Given the description of an element on the screen output the (x, y) to click on. 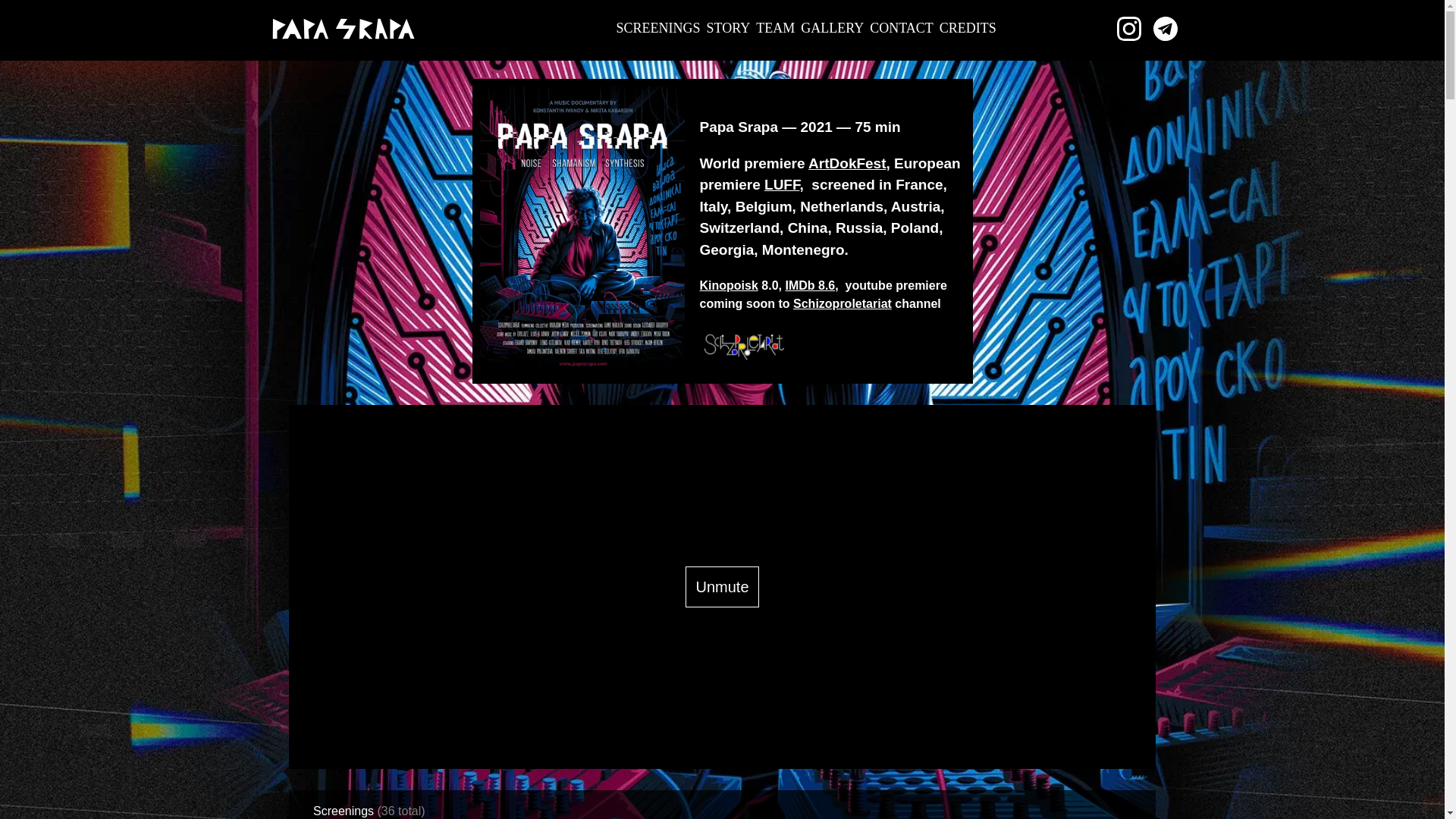
GALLERY (831, 28)
STORY (728, 28)
TEAM (774, 28)
IMDb 8.6 (809, 285)
SCREENINGS (657, 28)
Schizoproletariat (842, 303)
Telegram (1164, 28)
Kinopoisk (727, 285)
CREDITS (967, 28)
